Given the description of an element on the screen output the (x, y) to click on. 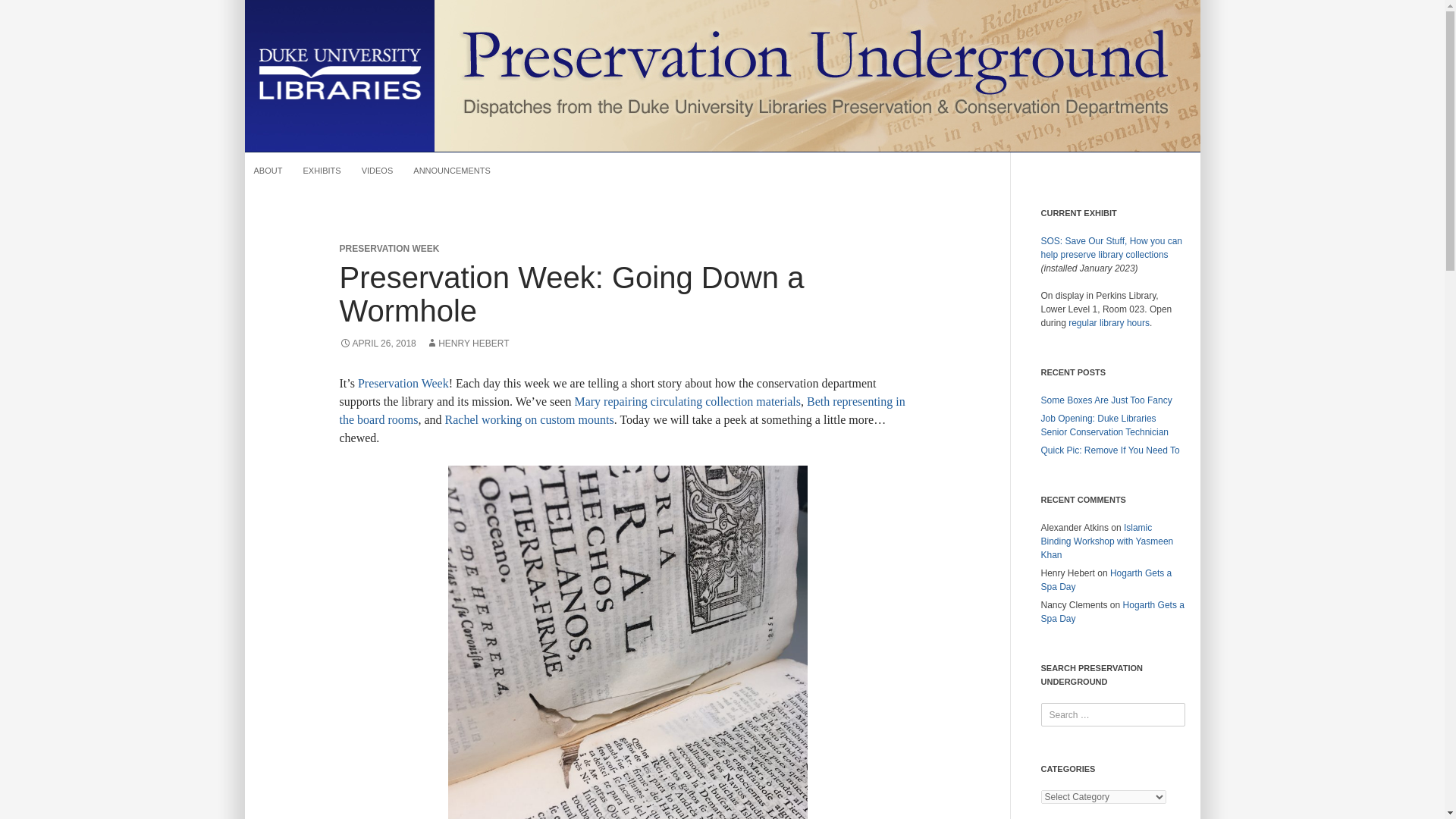
Preservation Week (403, 382)
ABOUT (267, 170)
Some Boxes Are Just Too Fancy (1106, 399)
Quick Pic: Remove If You Need To (1110, 450)
Duke University Libraries (338, 74)
Mary repairing circulating collection materials (686, 400)
HENRY HEBERT (467, 343)
Islamic Binding Workshop with Yasmeen Khan (1107, 541)
Search (27, 11)
